Given the description of an element on the screen output the (x, y) to click on. 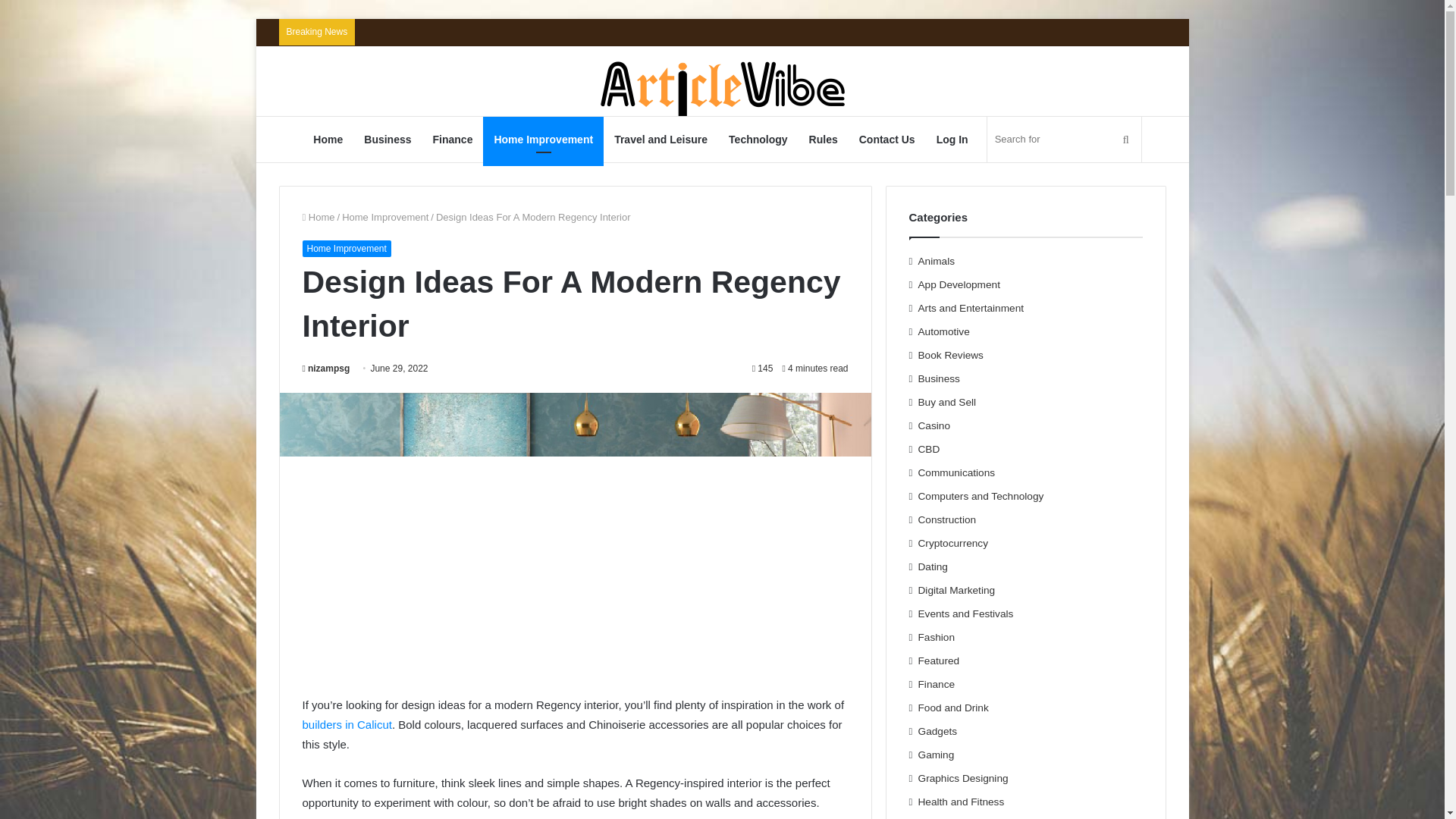
Home (317, 216)
Search for (1125, 139)
Home Improvement (385, 216)
Home (327, 139)
Home Improvement (345, 248)
Business (387, 139)
Article Vibe (721, 92)
Rules (822, 139)
Home Improvement (543, 139)
Travel and Leisure (660, 139)
Log In (952, 139)
Finance (452, 139)
Search for (1064, 139)
nizampsg (325, 368)
nizampsg (325, 368)
